Given the description of an element on the screen output the (x, y) to click on. 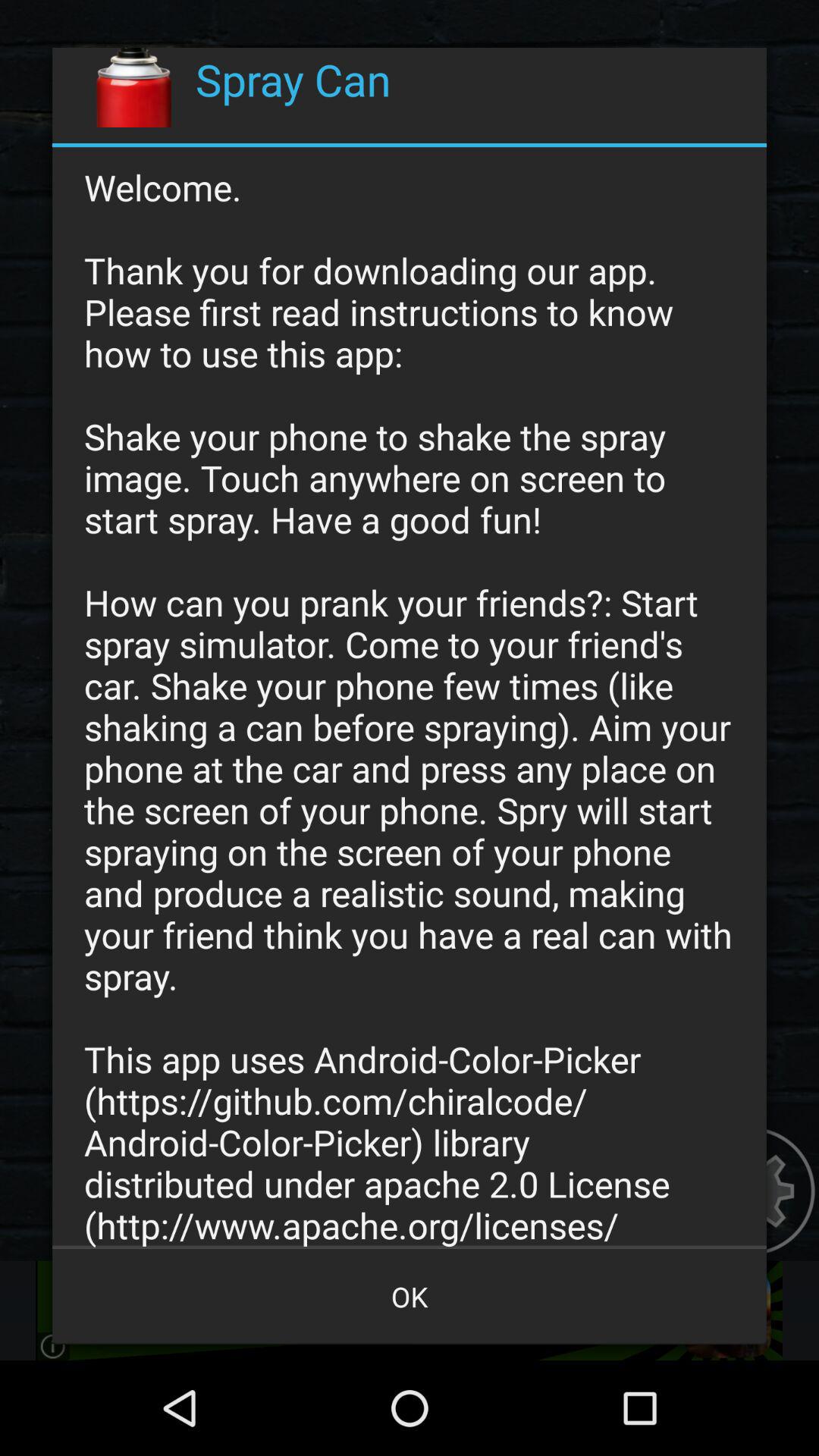
swipe to the ok icon (409, 1296)
